Given the description of an element on the screen output the (x, y) to click on. 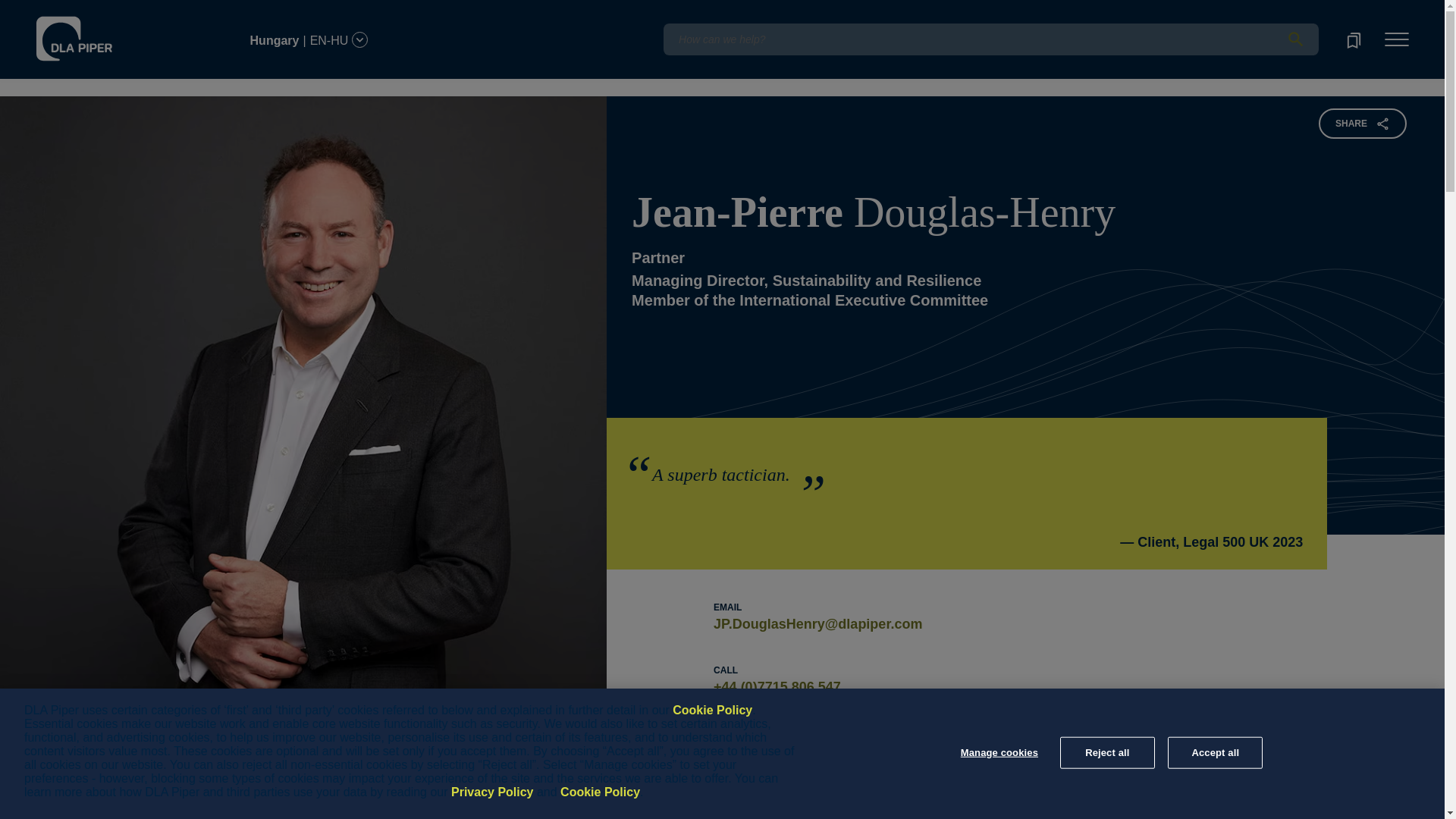
English (115, 11)
Deutsch (157, 11)
Insert a query. Press enter to send (990, 39)
English (116, 31)
